Given the description of an element on the screen output the (x, y) to click on. 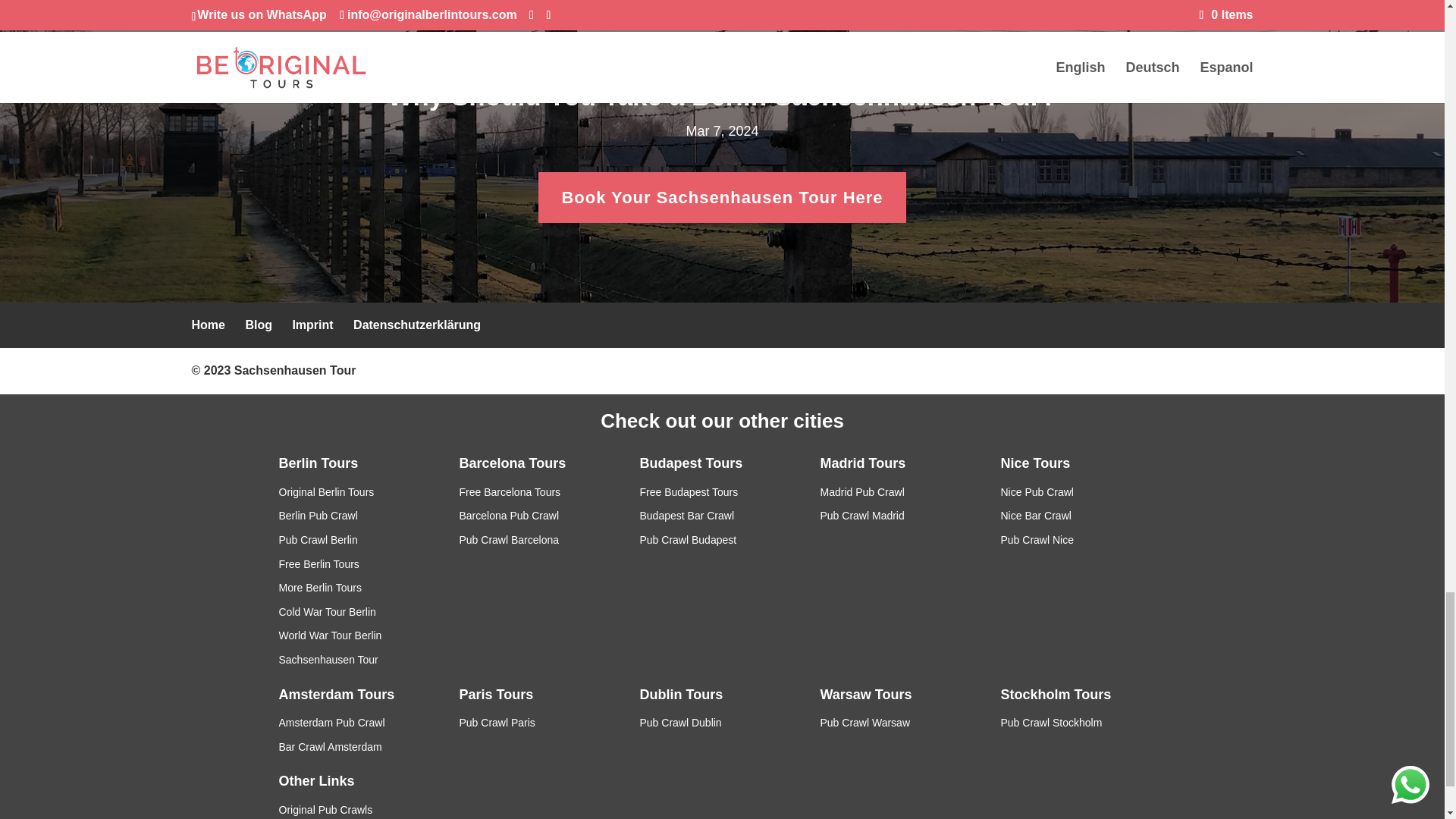
Pub Crawl Berlin (318, 539)
Free Berlin Tours (319, 563)
Imprint (312, 324)
Home (207, 324)
Berlin Pub Crawl (318, 515)
Book Your Sachsenhausen Tour Here (721, 196)
Original Berlin Tours (326, 491)
Sachsenhausen Tour (295, 369)
Blog (258, 324)
